Given the description of an element on the screen output the (x, y) to click on. 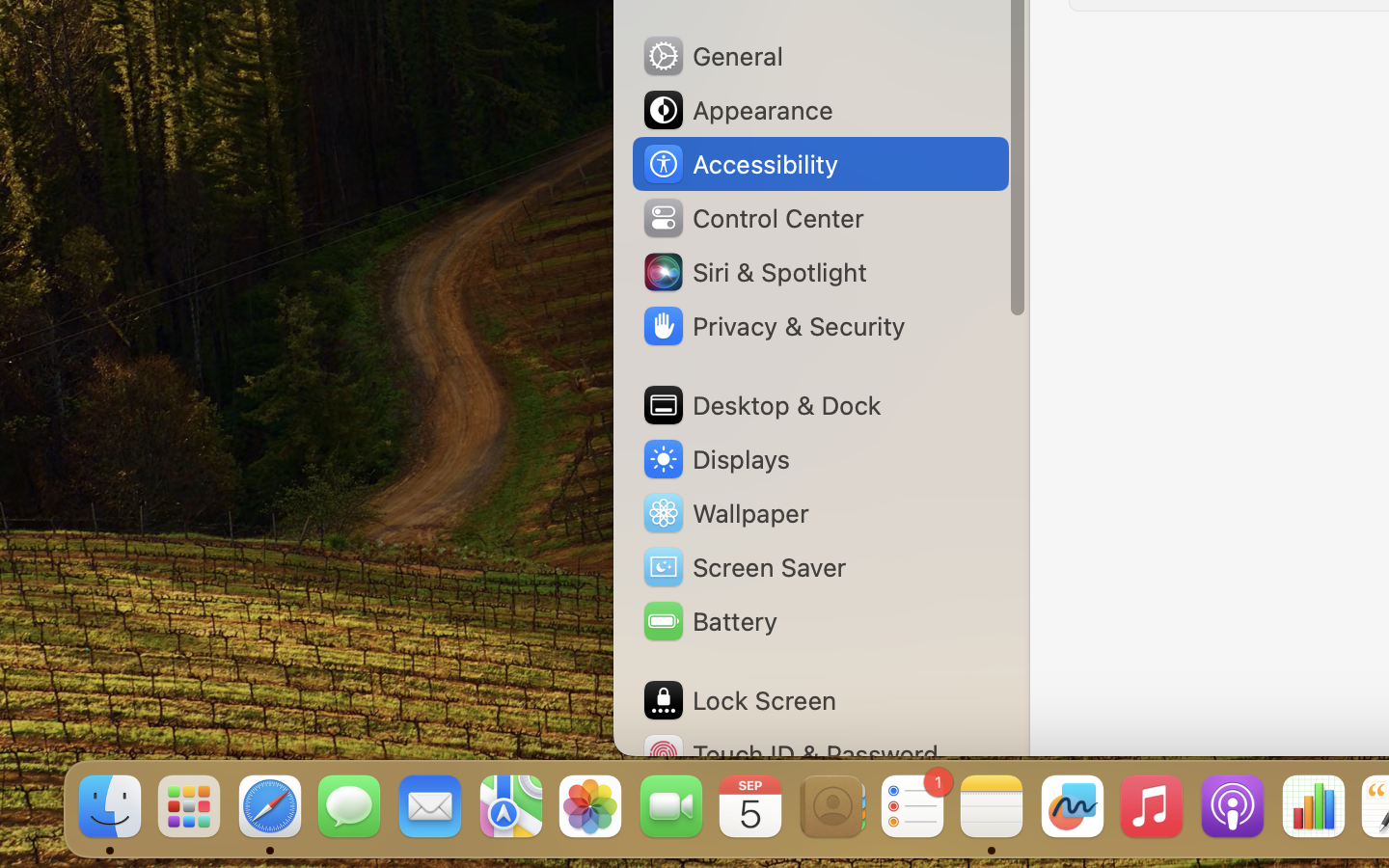
Siri & Spotlight Element type: AXStaticText (753, 271)
Touch ID & Password Element type: AXStaticText (789, 754)
Wallpaper Element type: AXStaticText (724, 512)
Displays Element type: AXStaticText (715, 458)
Appearance Element type: AXStaticText (736, 109)
